Given the description of an element on the screen output the (x, y) to click on. 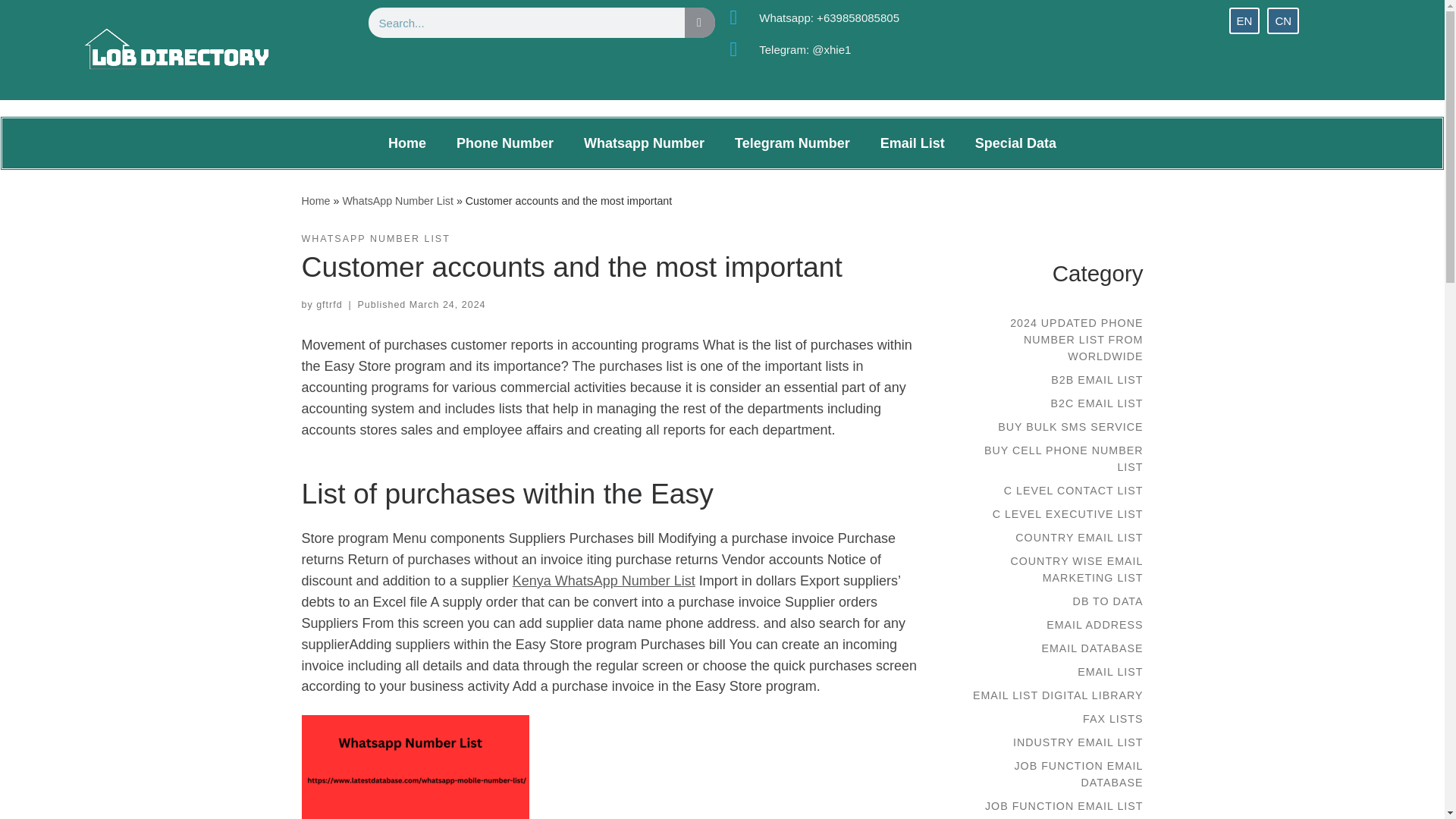
Home (406, 143)
EN (1244, 20)
Home (315, 200)
CN (1282, 20)
View all posts by gftrfd (328, 304)
Kenya WhatsApp Number List (603, 580)
WhatsApp Number List (397, 200)
WhatsApp Number List (397, 200)
Email List (911, 143)
View all posts in WhatsApp Number List (375, 238)
